Given the description of an element on the screen output the (x, y) to click on. 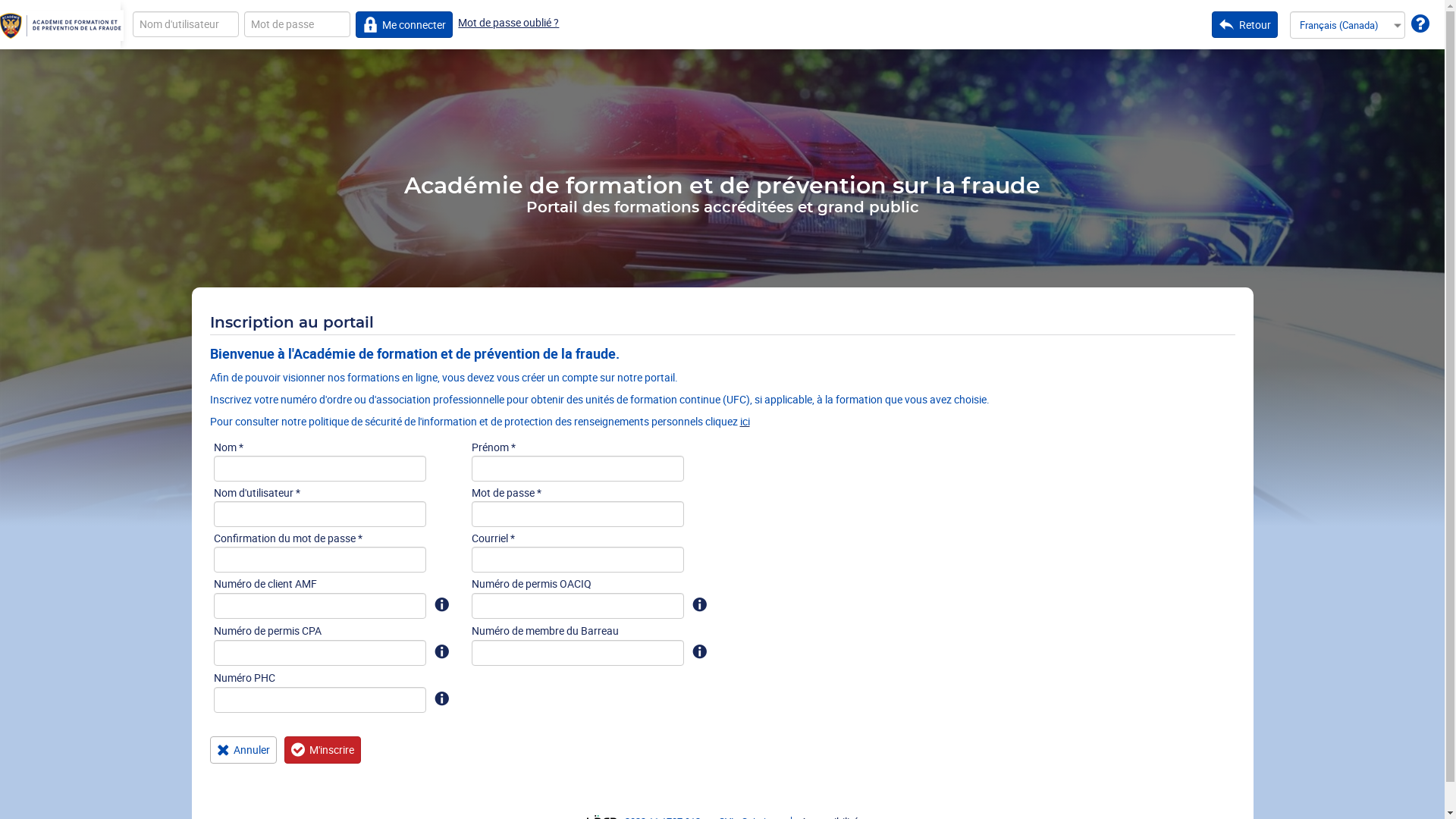
M'inscrire Element type: text (322, 749)
ici Element type: text (744, 421)
Retour Element type: text (1244, 23)
Annuler Element type: text (242, 749)
M'inscrire Element type: text (322, 749)
Me connecter Element type: text (404, 23)
